Given the description of an element on the screen output the (x, y) to click on. 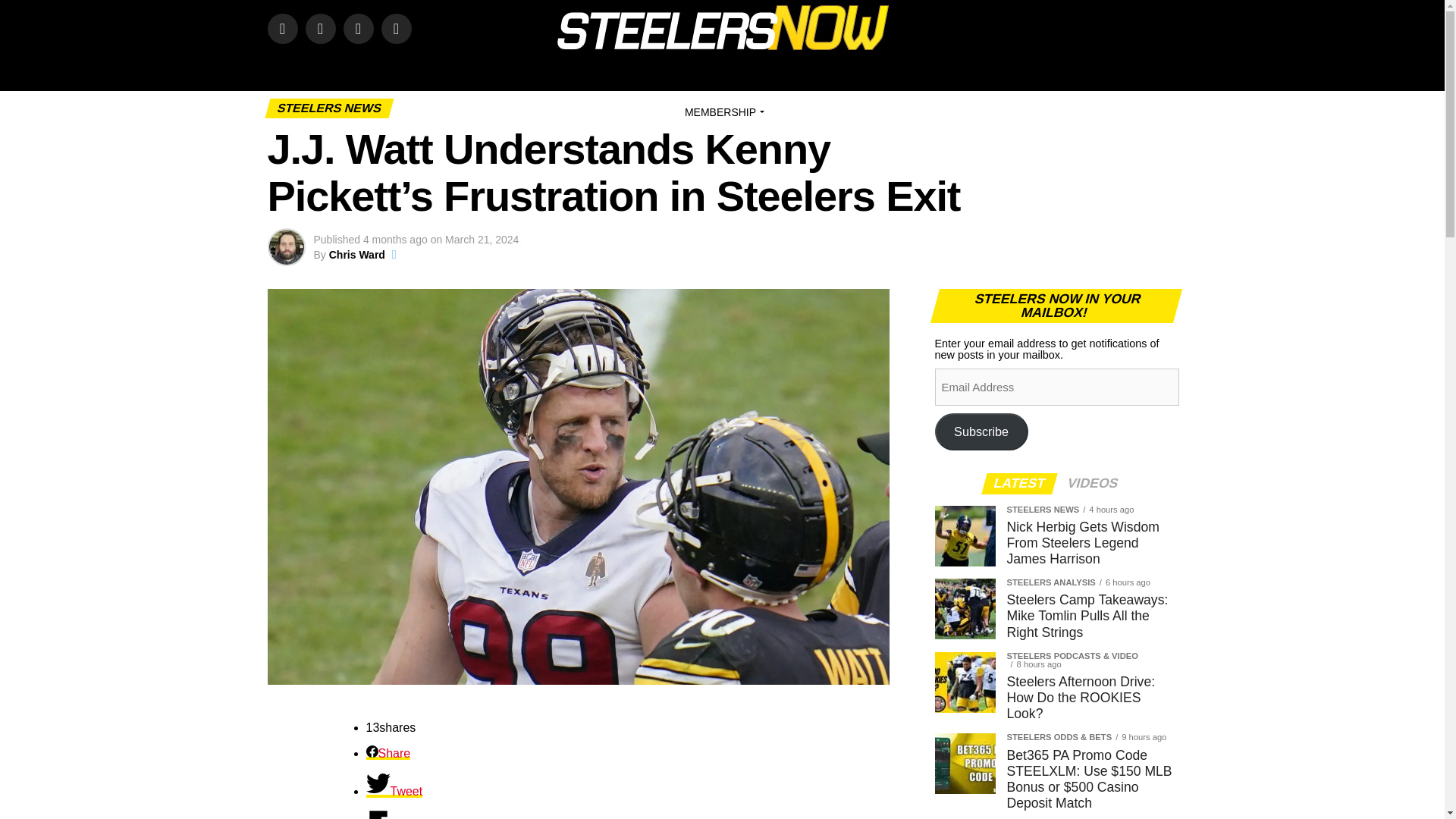
HOME (363, 71)
STEELERS NEWS (607, 71)
ANALYSIS (699, 71)
Posts by Chris Ward (357, 254)
Share on Share (387, 753)
Share on Tweet (393, 790)
